Given the description of an element on the screen output the (x, y) to click on. 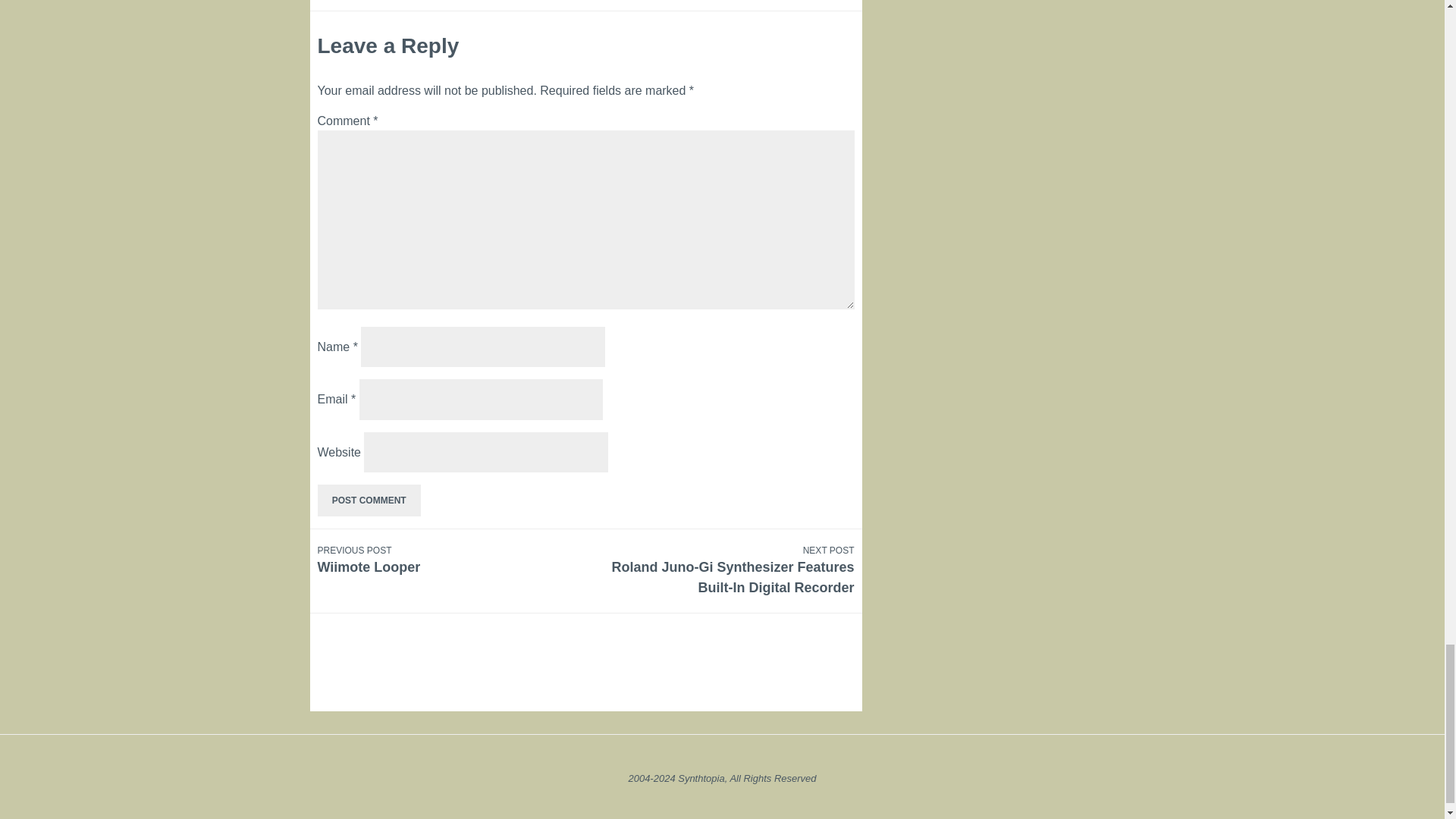
Post Comment (368, 500)
